Given the description of an element on the screen output the (x, y) to click on. 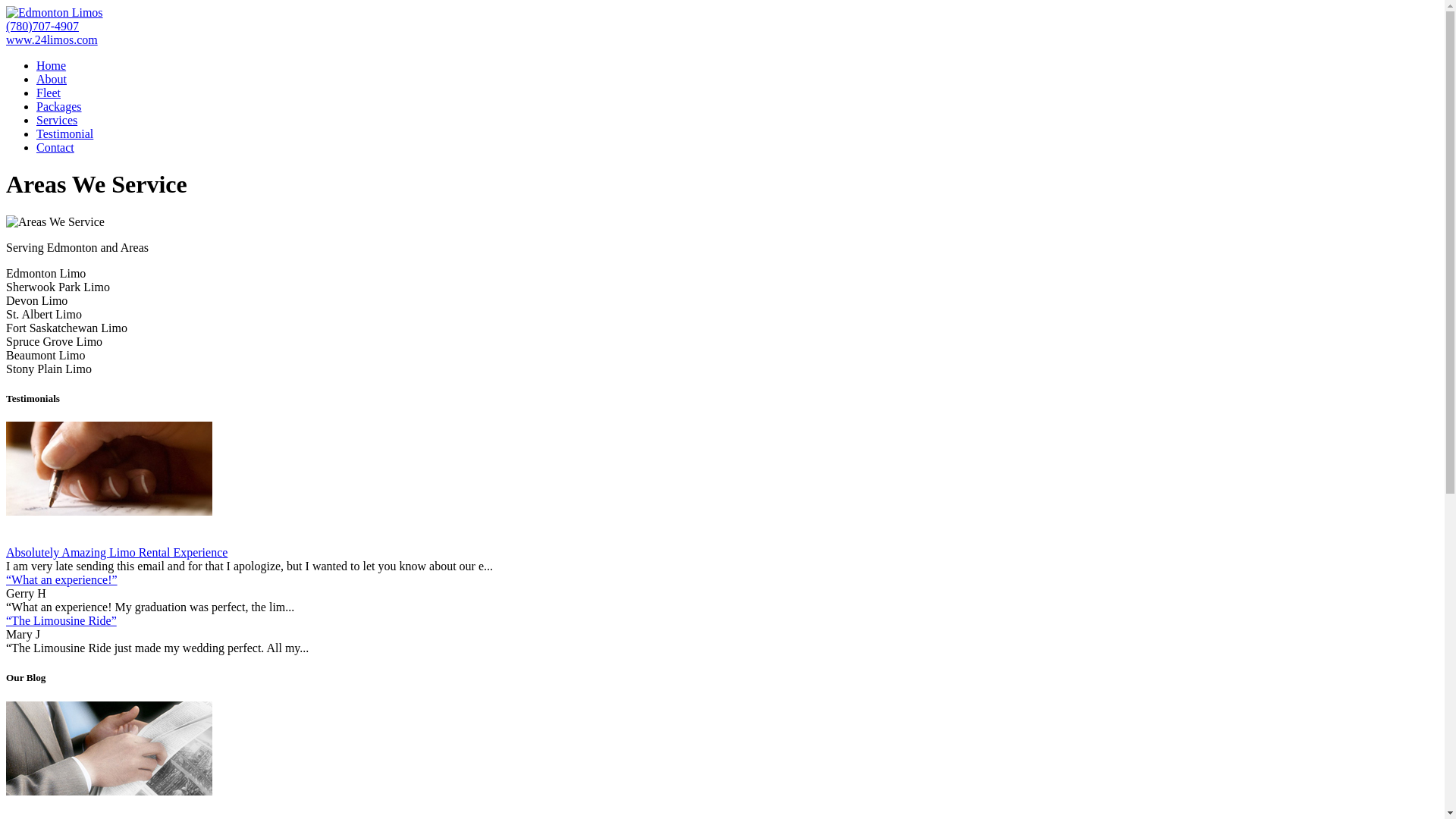
Home Element type: text (50, 65)
Services Element type: text (56, 119)
About Element type: text (51, 78)
(780)707-4907 Element type: text (42, 25)
Testimonial Element type: text (64, 133)
Contact Element type: text (55, 147)
Absolutely Amazing Limo Rental Experience Element type: text (116, 552)
Fleet Element type: text (48, 92)
Edmonton Limos Element type: hover (54, 12)
www.24limos.com Element type: text (51, 39)
Packages Element type: text (58, 106)
